Given the description of an element on the screen output the (x, y) to click on. 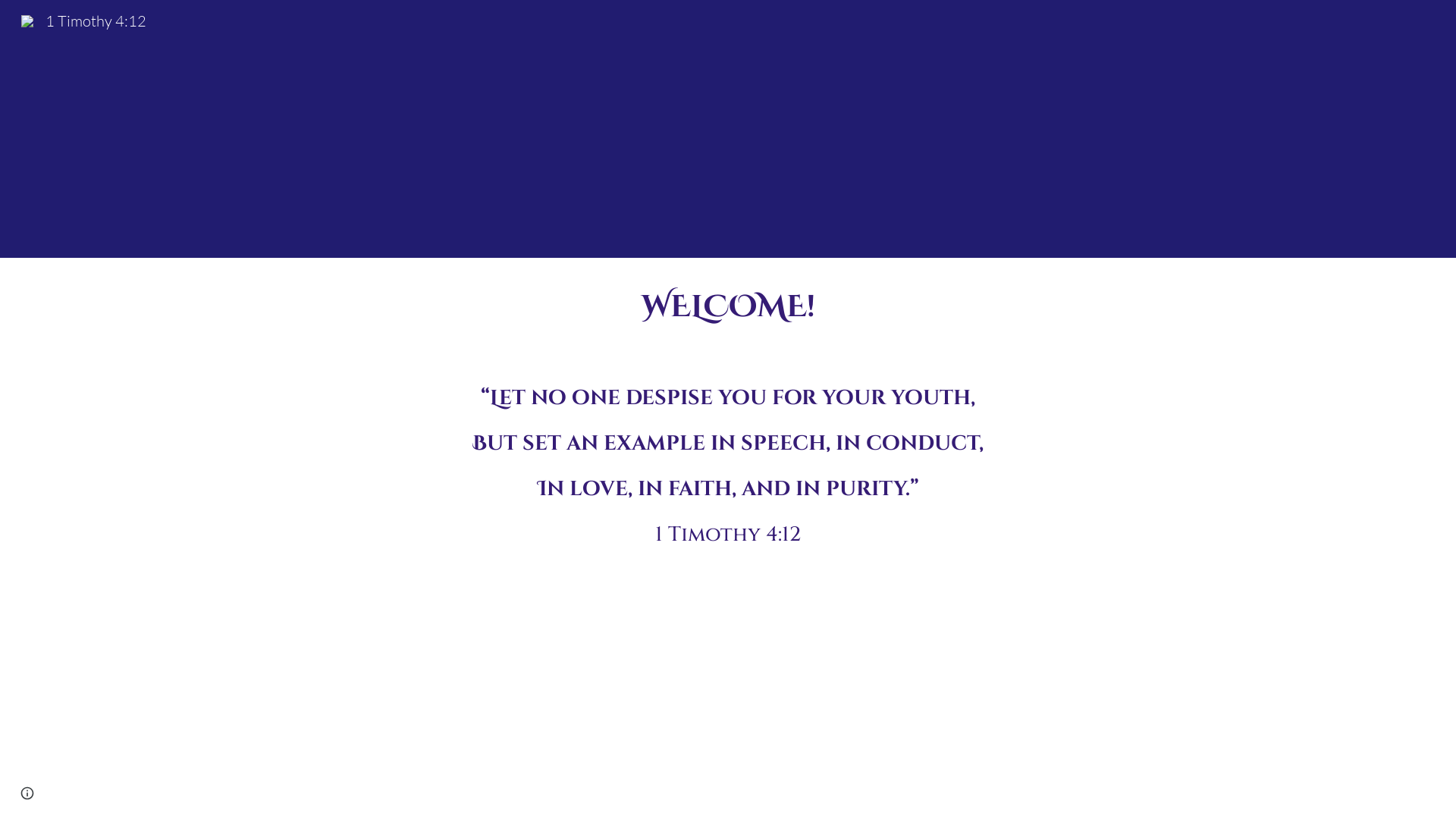
1 Timothy 4:12 Element type: text (83, 18)
